Given the description of an element on the screen output the (x, y) to click on. 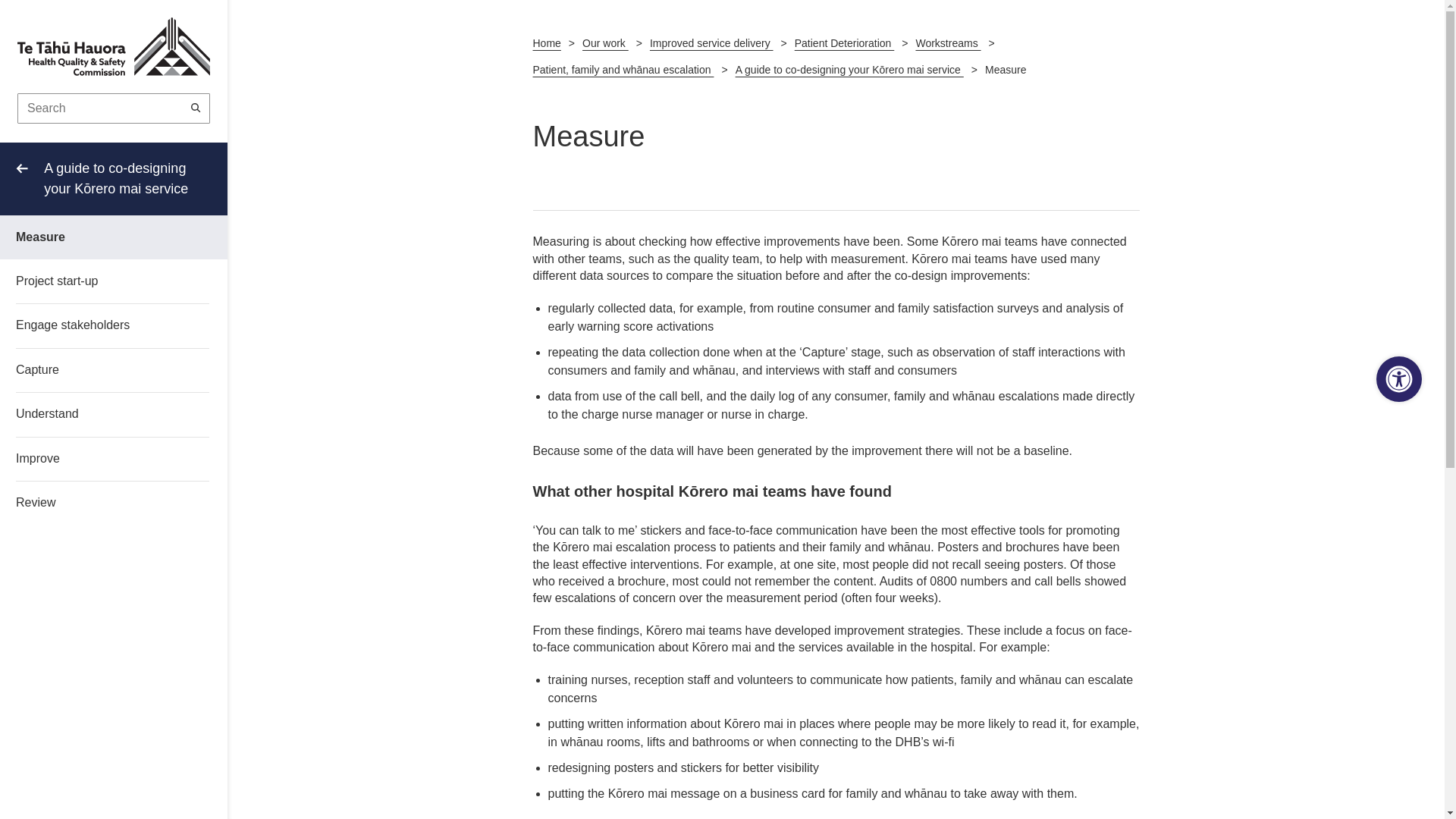
Understand (96, 413)
Engage stakeholders (96, 324)
Review (96, 502)
Improve (96, 458)
Capture (96, 369)
Project start-up (96, 280)
Search (195, 108)
Measure (96, 237)
